Given the description of an element on the screen output the (x, y) to click on. 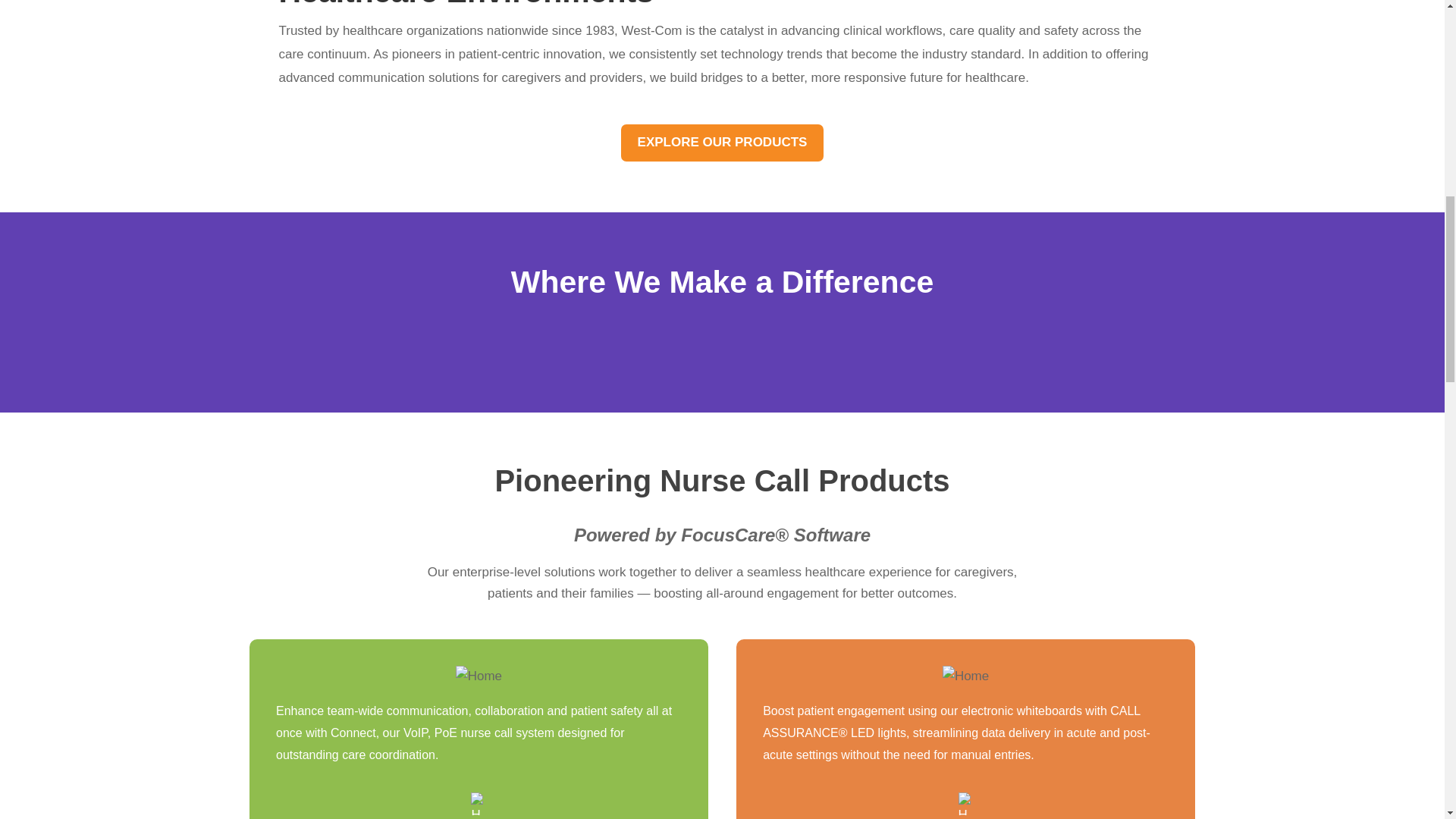
Home (478, 676)
EXPLORE OUR PRODUCTS (722, 142)
Home (965, 676)
